Given the description of an element on the screen output the (x, y) to click on. 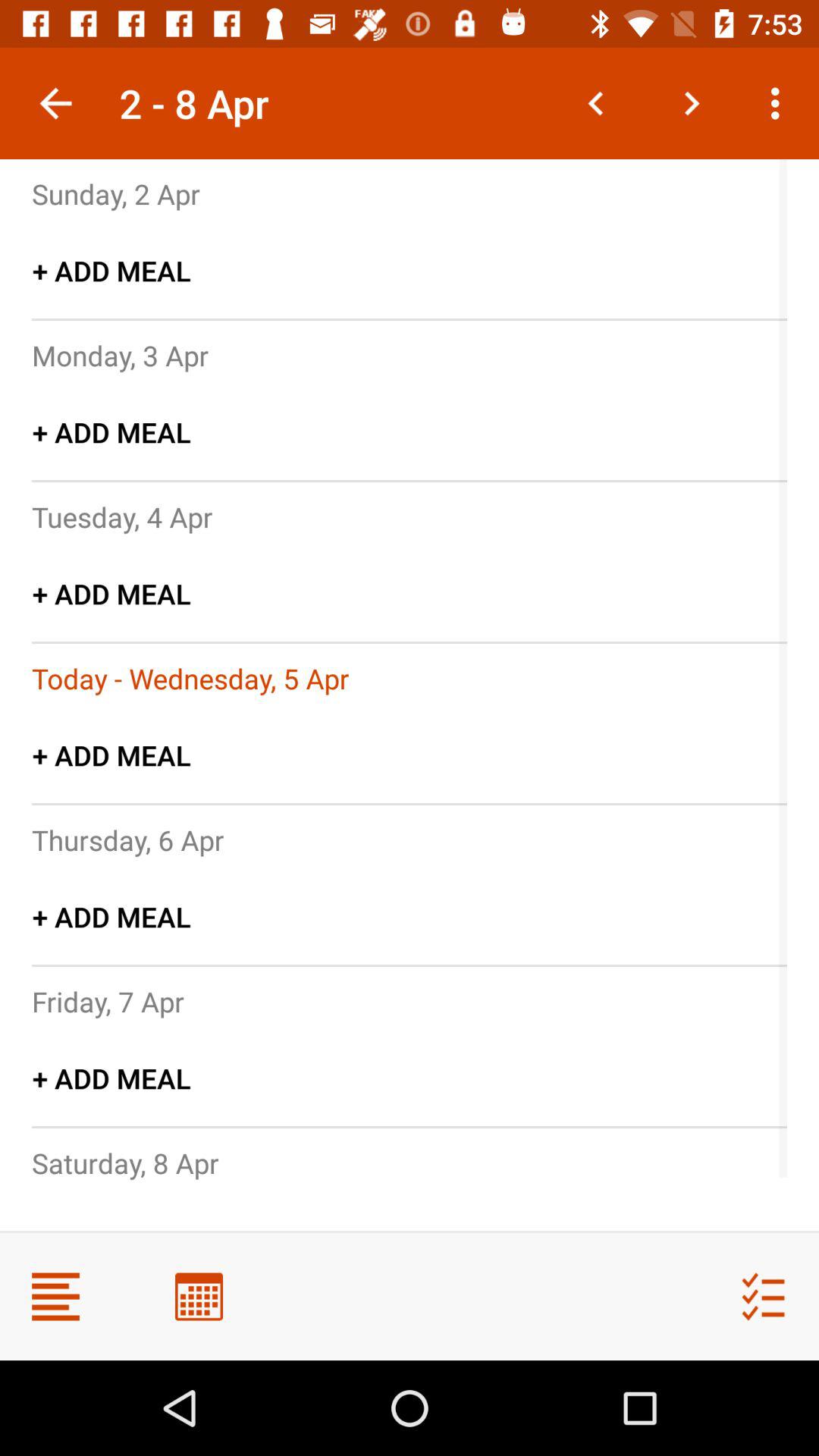
scroll until thursday, 6 apr icon (127, 839)
